Given the description of an element on the screen output the (x, y) to click on. 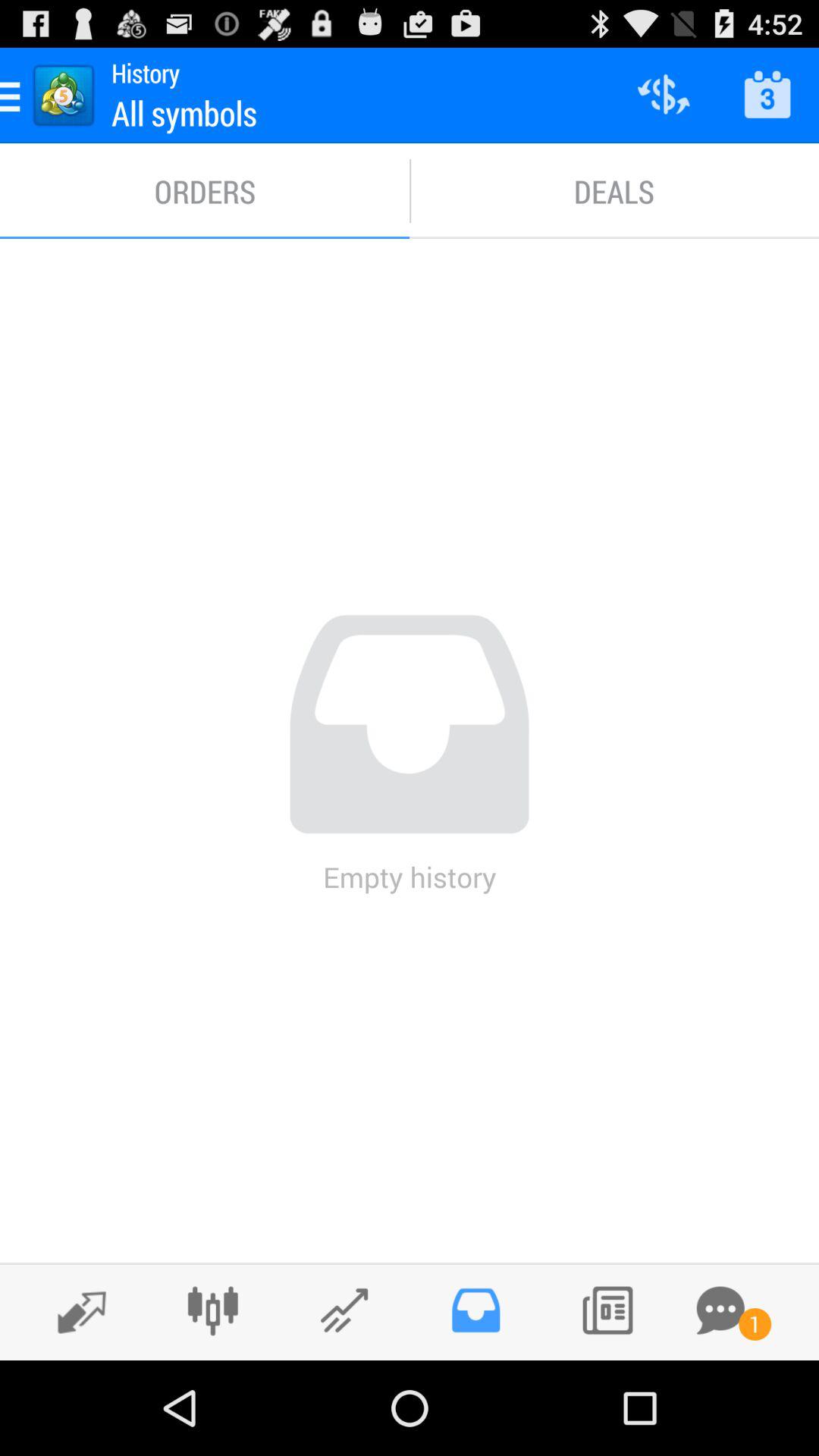
turn on item above the empty history icon (614, 190)
